Given the description of an element on the screen output the (x, y) to click on. 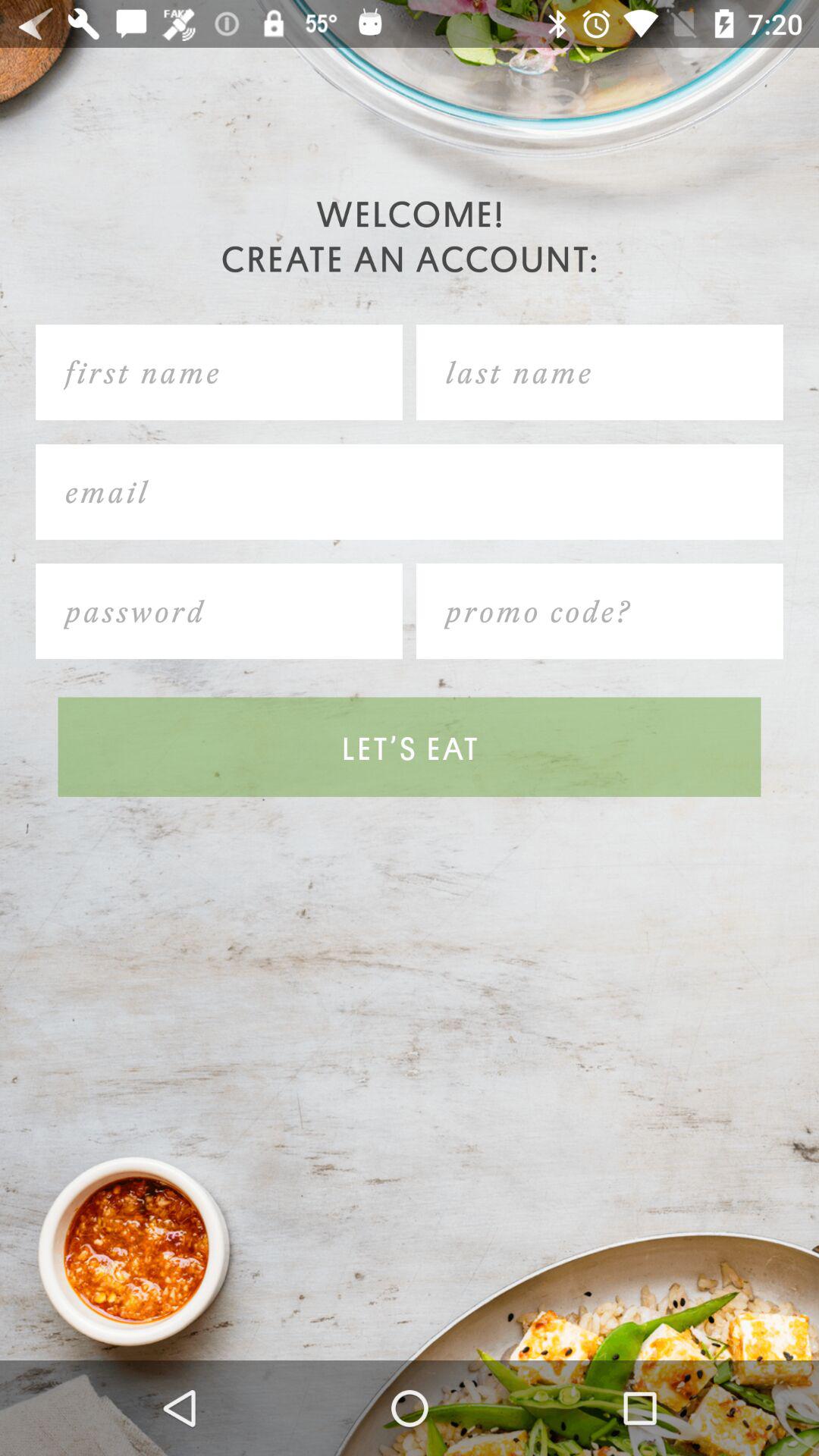
enter your password (218, 611)
